Given the description of an element on the screen output the (x, y) to click on. 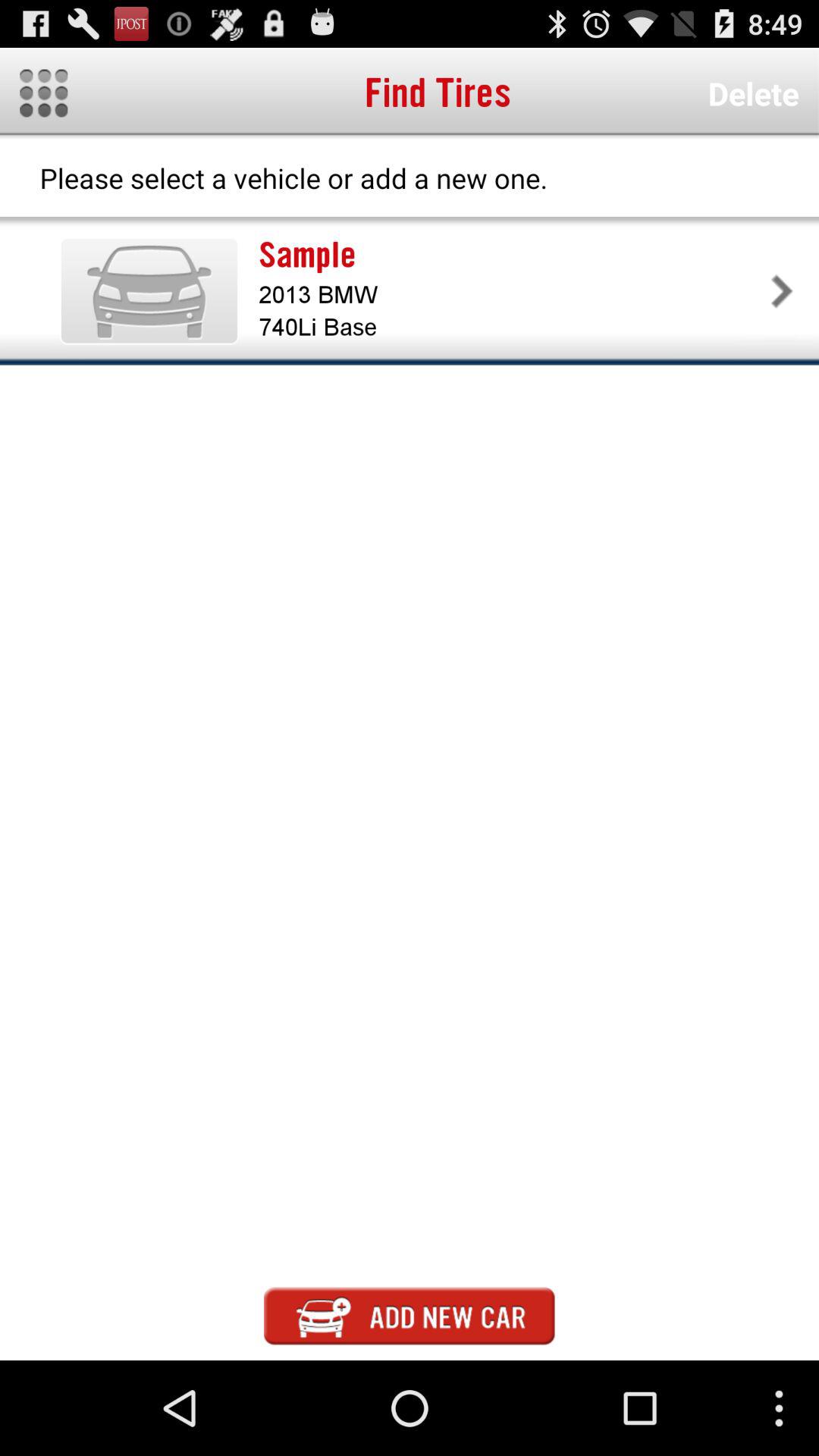
tap for menu (43, 93)
